Given the description of an element on the screen output the (x, y) to click on. 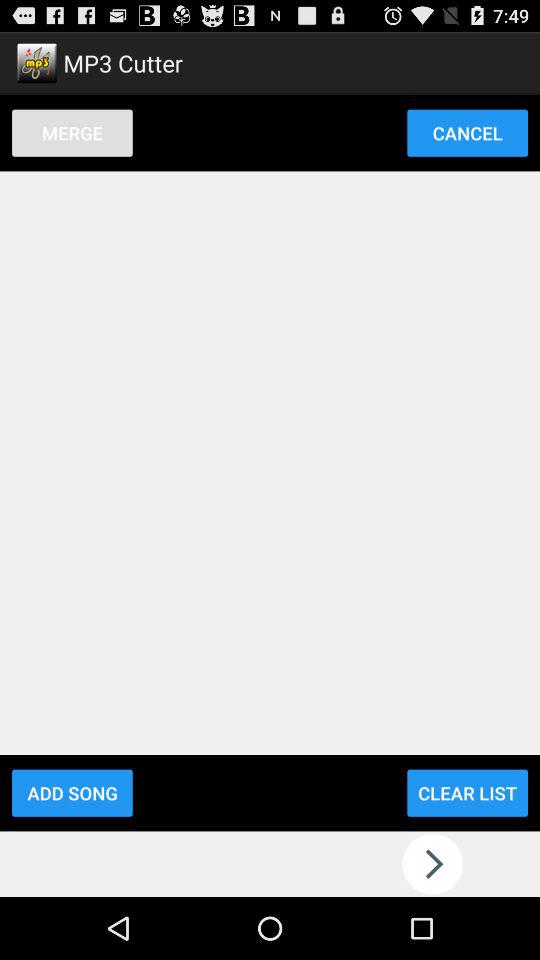
press button to the left of the cancel (72, 132)
